Given the description of an element on the screen output the (x, y) to click on. 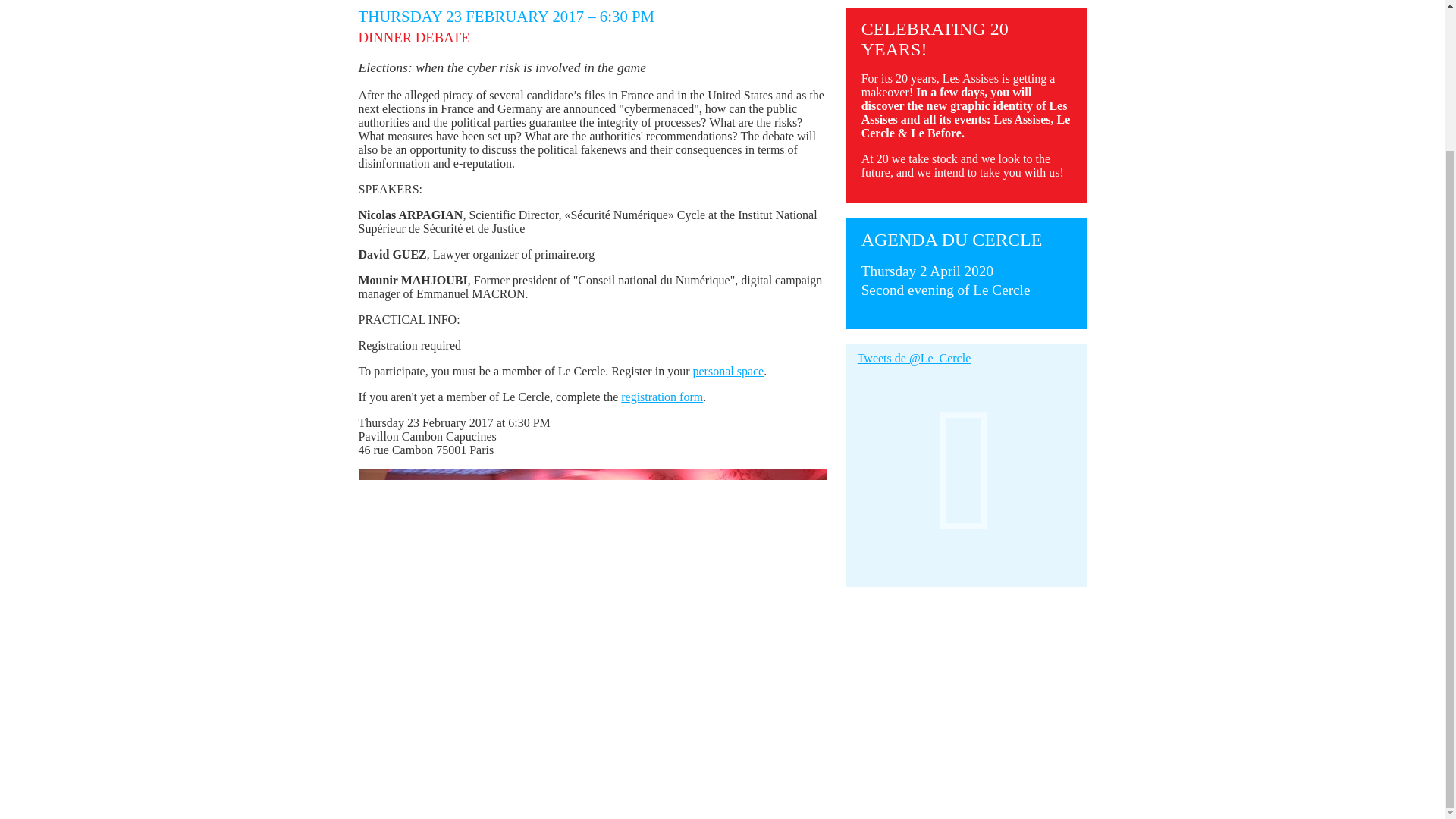
registration form (662, 396)
personal space (945, 281)
